Given the description of an element on the screen output the (x, y) to click on. 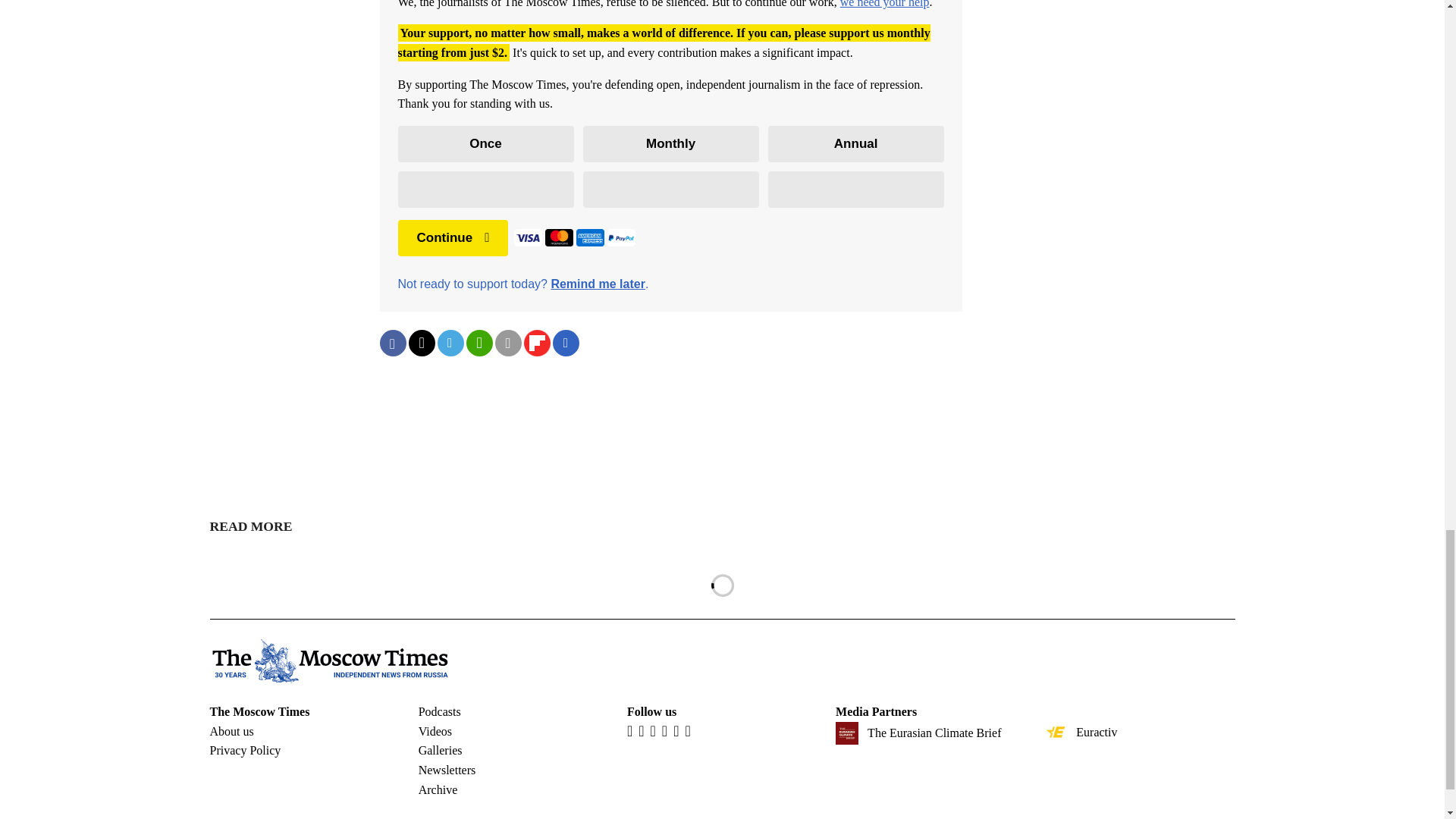
Share on Flipboard (536, 343)
Share on Facebook (392, 343)
we need your help (885, 4)
Share on Telegram (449, 343)
Share on Twitter (420, 343)
